Given the description of an element on the screen output the (x, y) to click on. 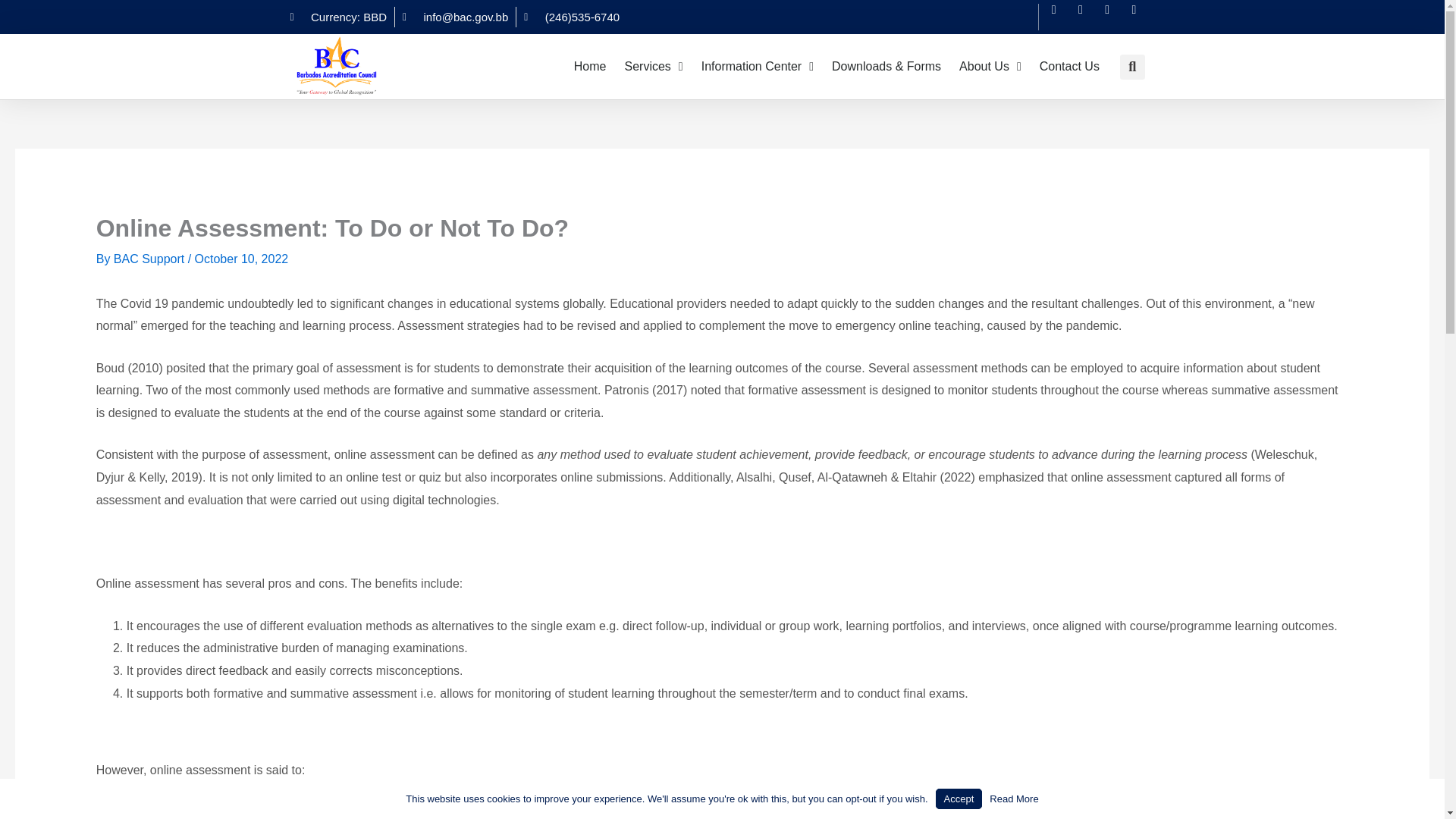
View all posts by BAC Support (150, 258)
Information Center (757, 66)
Services (652, 66)
Instagram (1113, 17)
Youtube (1140, 17)
Home (589, 66)
About Us (990, 66)
Facebook-f (1061, 17)
Twitter (1087, 17)
